Given the description of an element on the screen output the (x, y) to click on. 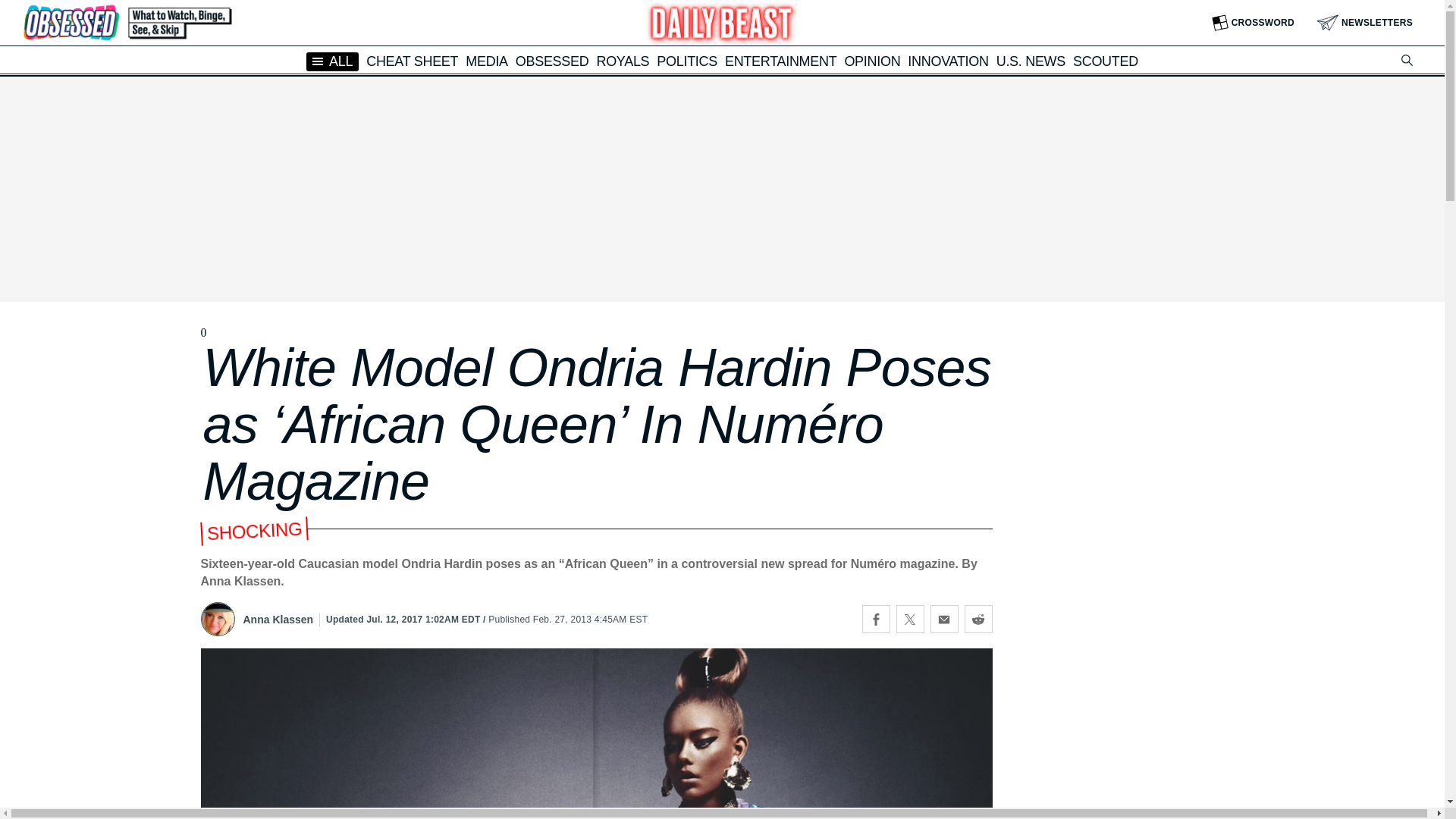
INNOVATION (947, 60)
CROSSWORD (1252, 22)
POLITICS (686, 60)
U.S. NEWS (1030, 60)
NEWSLETTERS (1364, 22)
OPINION (871, 60)
ENTERTAINMENT (780, 60)
OBSESSED (552, 60)
ROYALS (622, 60)
CHEAT SHEET (412, 60)
